Given the description of an element on the screen output the (x, y) to click on. 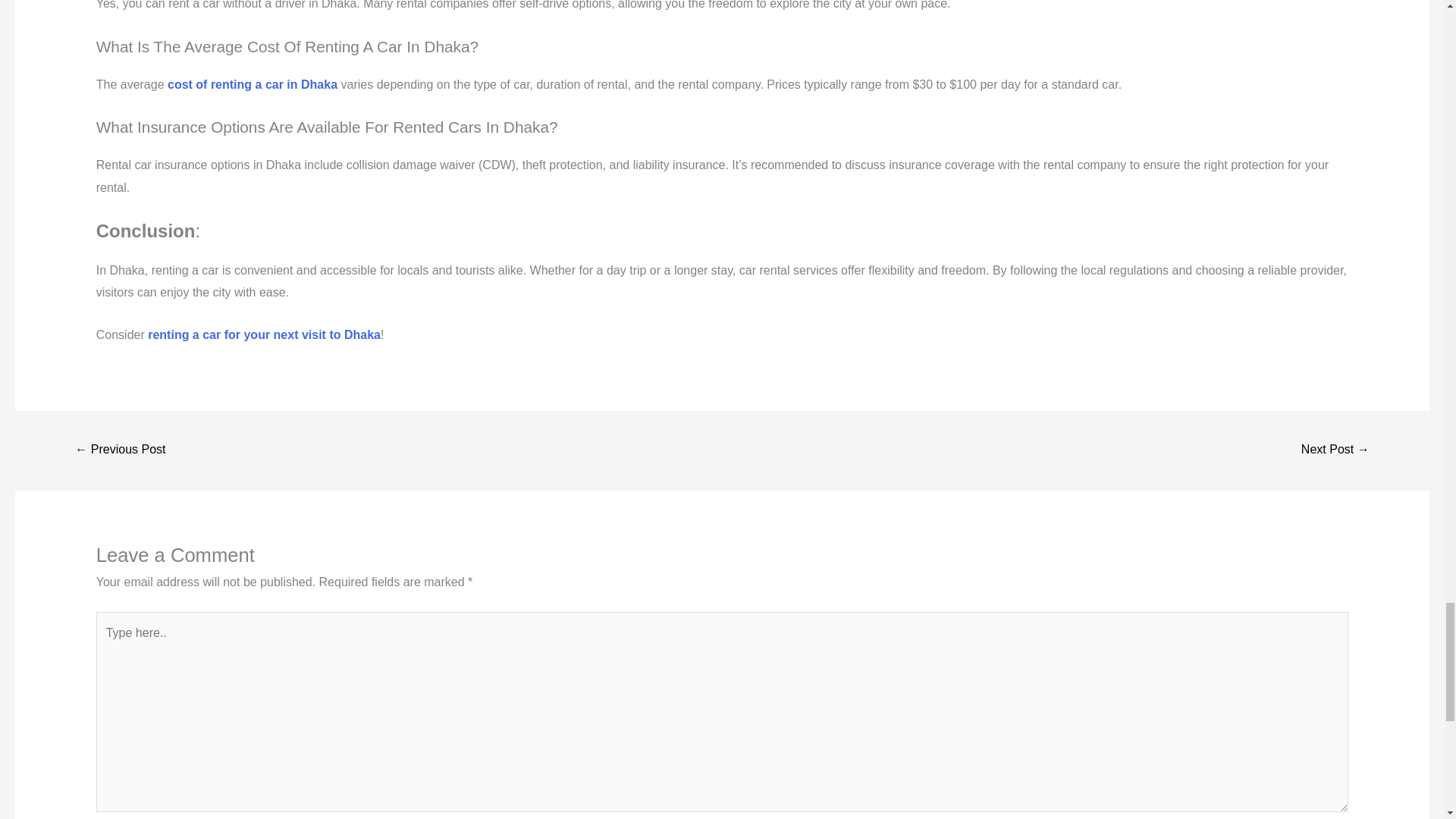
renting a car for your next visit to Dhaka (264, 334)
cost of renting a car in Dhaka (252, 83)
